Given the description of an element on the screen output the (x, y) to click on. 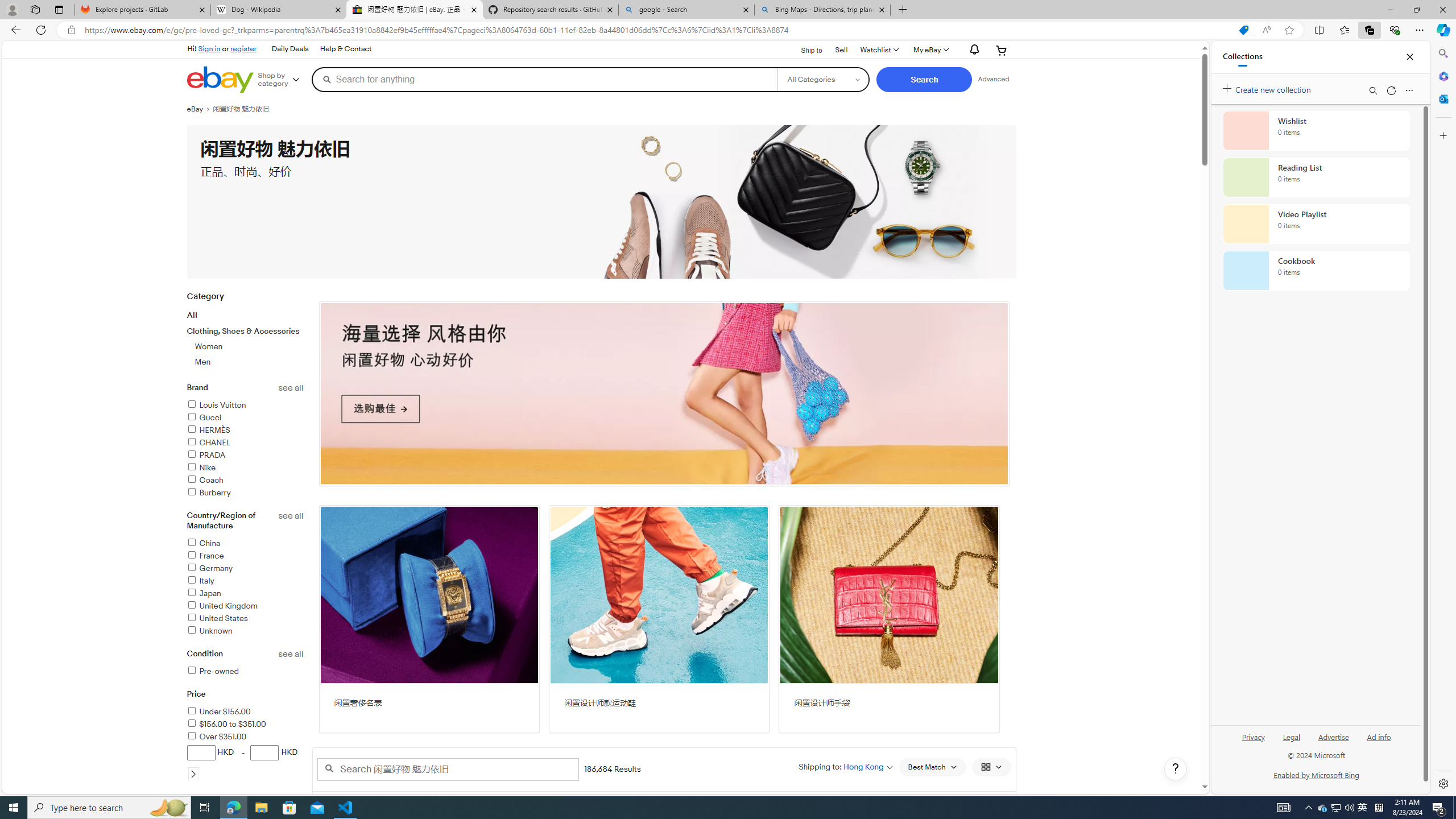
Over $351.00 (216, 737)
Italy (200, 580)
All (192, 315)
See all brand refinements (291, 387)
Help & Contact (345, 49)
My eBayExpand My eBay (930, 49)
China (245, 543)
